Given the description of an element on the screen output the (x, y) to click on. 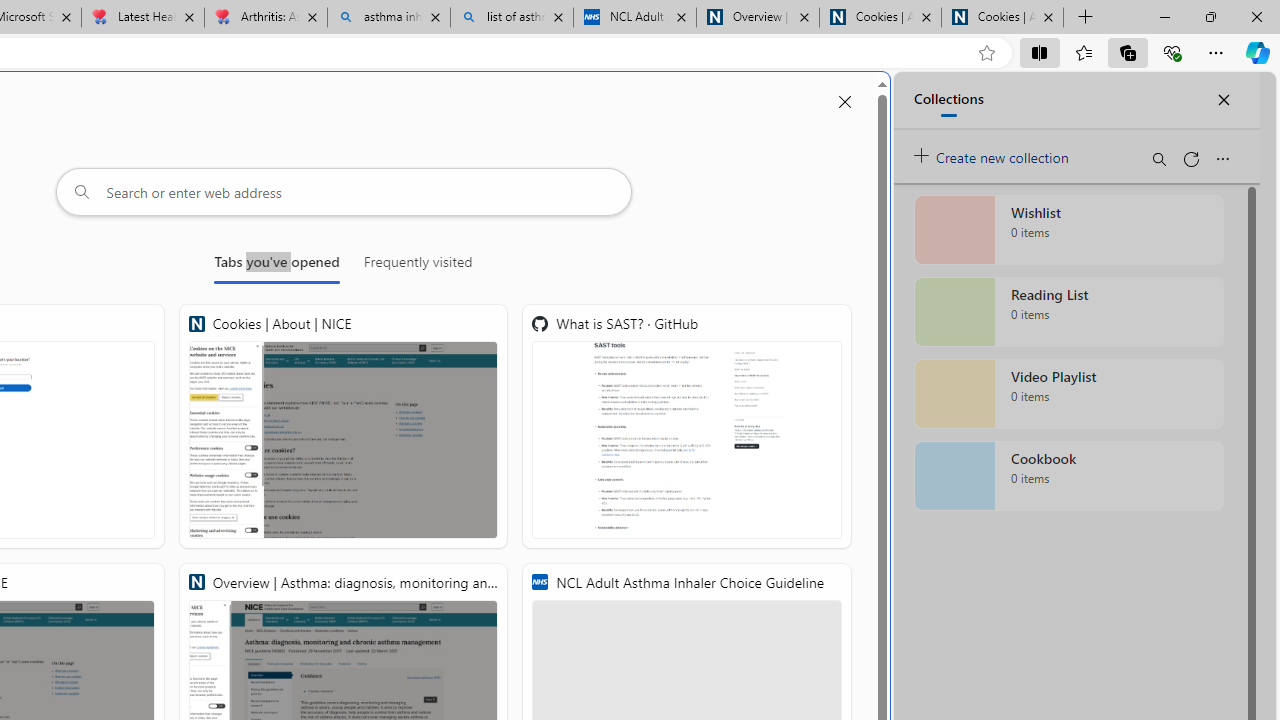
Search or enter web address (343, 191)
Arthritis: Ask Health Professionals (265, 17)
list of asthma inhalers uk - Search (511, 17)
asthma inhaler - Search (388, 17)
Cookies | About | NICE (343, 426)
